Given the description of an element on the screen output the (x, y) to click on. 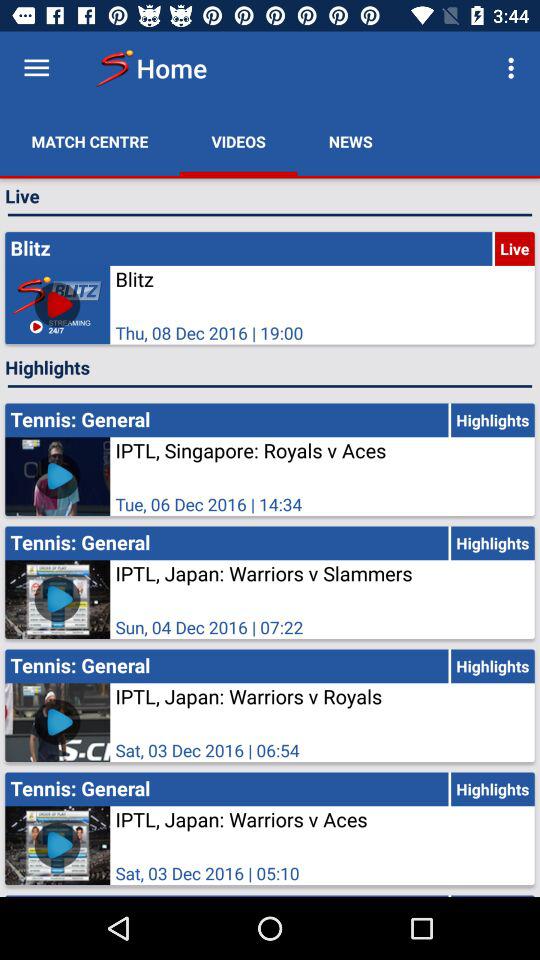
click the item next to the videos icon (350, 141)
